Given the description of an element on the screen output the (x, y) to click on. 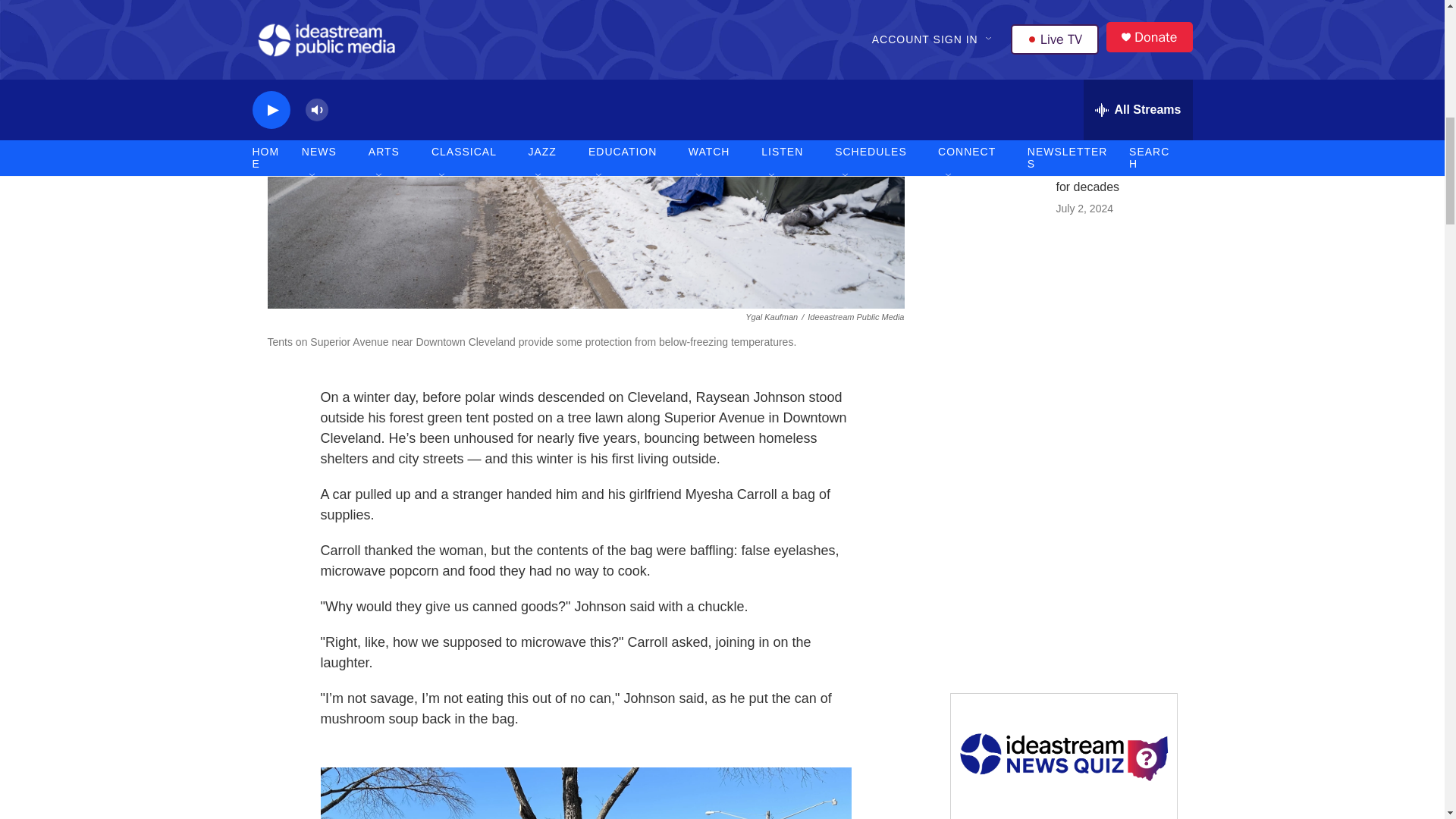
3rd party ad content (1062, 348)
3rd party ad content (1062, 567)
